Given the description of an element on the screen output the (x, y) to click on. 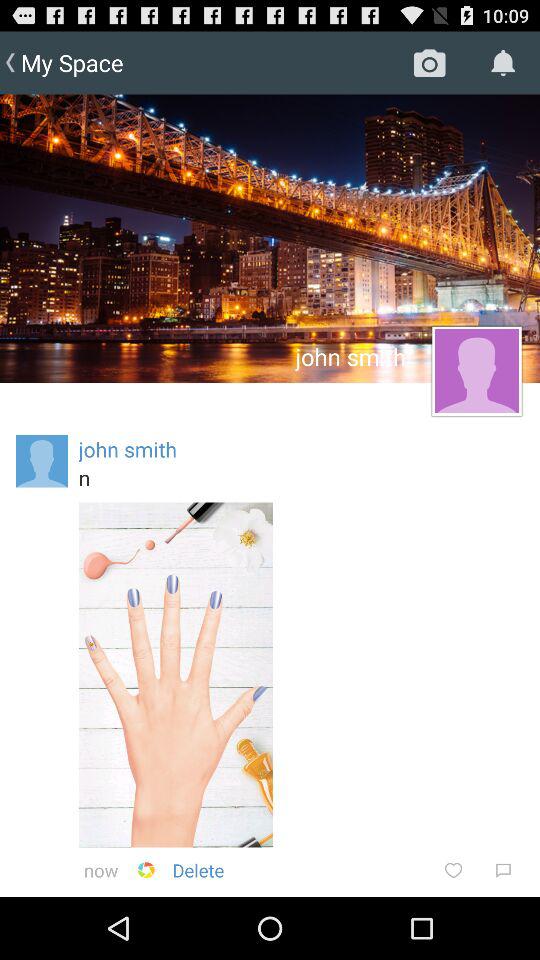
press the item below john smith item (301, 477)
